Given the description of an element on the screen output the (x, y) to click on. 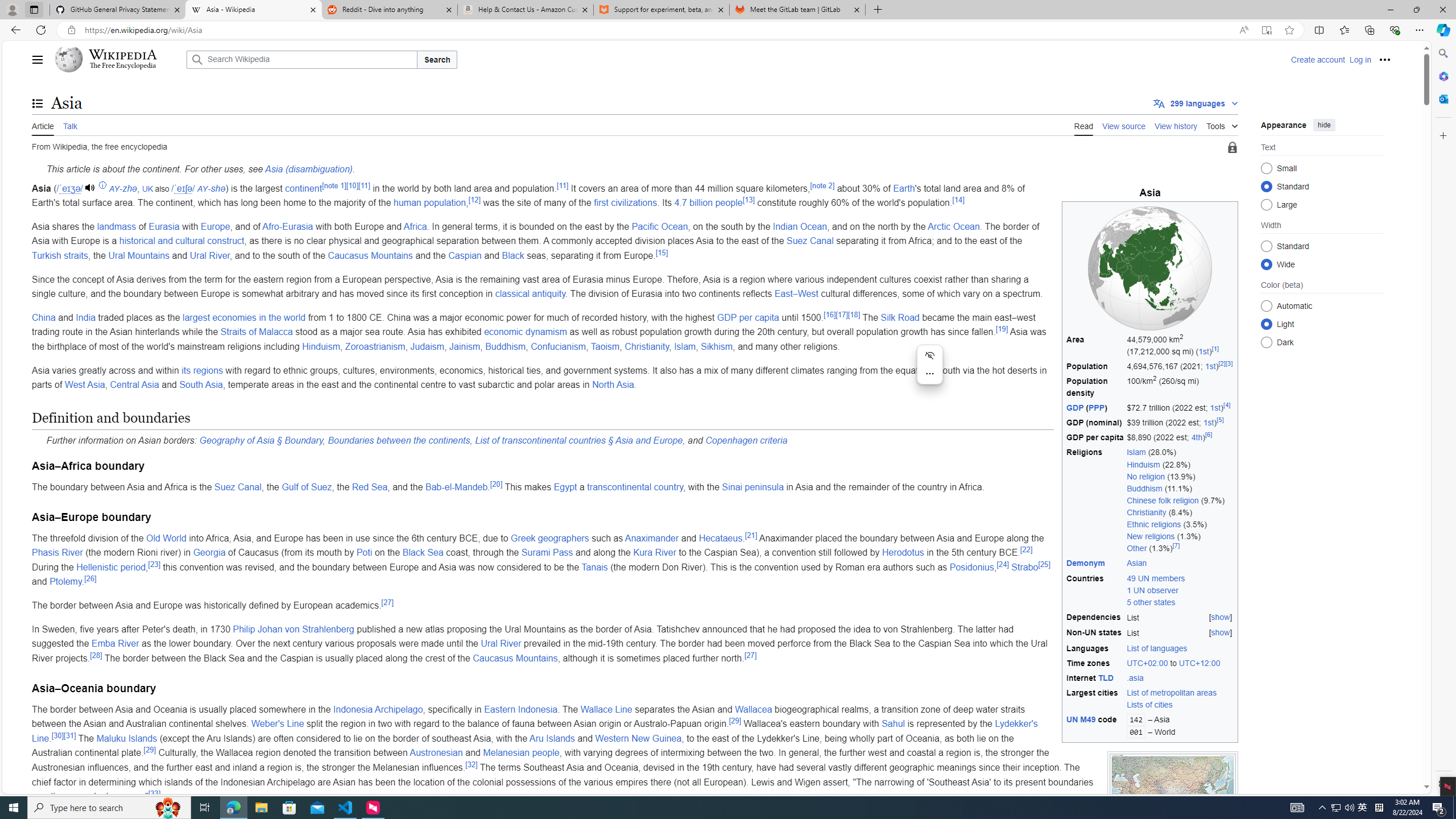
[29] (148, 750)
Asia - Wikipedia (253, 9)
Mini menu on text selection (930, 371)
To get missing image descriptions, open the context menu. (1149, 267)
View source (1123, 124)
Other (1136, 548)
Read (1083, 124)
classical antiquity (529, 293)
Demonym (1085, 563)
Tanais (594, 566)
Class: mw-list-item mw-list-item-js (1321, 323)
[23] (154, 563)
[5] (1220, 419)
